Given the description of an element on the screen output the (x, y) to click on. 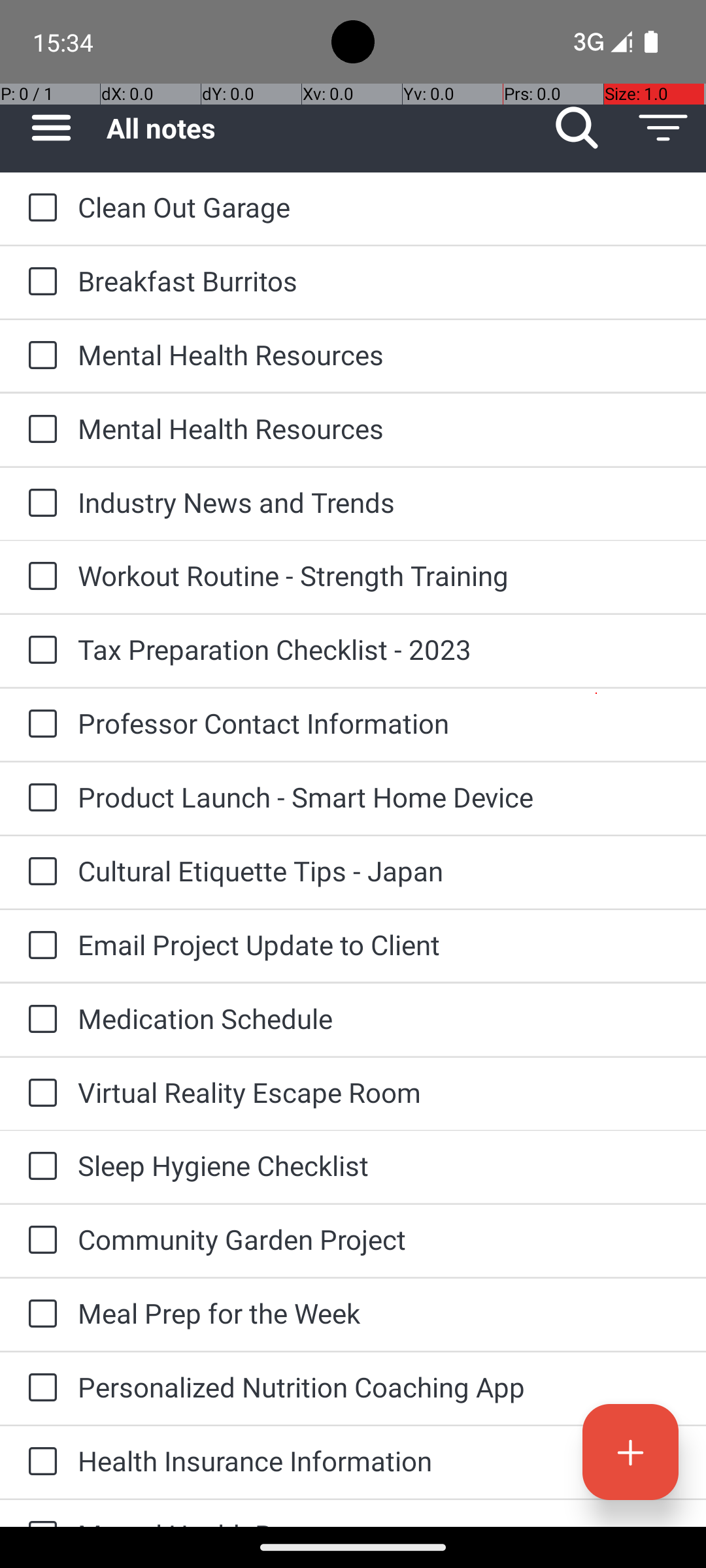
Sidebar Element type: android.widget.Button (44, 127)
All notes Element type: android.widget.TextView (320, 127)
Sort notes by Element type: android.widget.Button (663, 127)
Add new, collapsed Element type: android.widget.Button (630, 1452)
 Element type: android.widget.TextView (51, 127)
 Element type: android.widget.TextView (576, 127)
 Element type: android.widget.TextView (663, 127)
 Element type: android.widget.TextView (630, 1451)
to-do: Clean Out Garage Element type: android.widget.CheckBox (38, 208)
Clean Out Garage Element type: android.widget.TextView (378, 206)
to-do: Breakfast Burritos Element type: android.widget.CheckBox (38, 282)
Breakfast Burritos Element type: android.widget.TextView (378, 280)
to-do: Mental Health Resources Element type: android.widget.CheckBox (38, 356)
Mental Health Resources Element type: android.widget.TextView (378, 354)
to-do: Industry News and Trends Element type: android.widget.CheckBox (38, 503)
Industry News and Trends Element type: android.widget.TextView (378, 501)
to-do: Workout Routine - Strength Training Element type: android.widget.CheckBox (38, 576)
Workout Routine - Strength Training Element type: android.widget.TextView (378, 574)
to-do: Tax Preparation Checklist - 2023 Element type: android.widget.CheckBox (38, 650)
Tax Preparation Checklist - 2023 Element type: android.widget.TextView (378, 648)
to-do: Professor Contact Information Element type: android.widget.CheckBox (38, 724)
Professor Contact Information Element type: android.widget.TextView (378, 722)
to-do: Product Launch - Smart Home Device Element type: android.widget.CheckBox (38, 798)
Product Launch - Smart Home Device Element type: android.widget.TextView (378, 796)
to-do: Cultural Etiquette Tips - Japan Element type: android.widget.CheckBox (38, 872)
Cultural Etiquette Tips - Japan Element type: android.widget.TextView (378, 870)
to-do: Email Project Update to Client Element type: android.widget.CheckBox (38, 945)
Email Project Update to Client Element type: android.widget.TextView (378, 944)
to-do: Medication Schedule Element type: android.widget.CheckBox (38, 1019)
Medication Schedule Element type: android.widget.TextView (378, 1017)
to-do: Virtual Reality Escape Room Element type: android.widget.CheckBox (38, 1093)
Virtual Reality Escape Room Element type: android.widget.TextView (378, 1091)
to-do: Sleep Hygiene Checklist Element type: android.widget.CheckBox (38, 1166)
Sleep Hygiene Checklist Element type: android.widget.TextView (378, 1164)
to-do: Community Garden Project Element type: android.widget.CheckBox (38, 1240)
Community Garden Project Element type: android.widget.TextView (378, 1238)
to-do: Meal Prep for the Week Element type: android.widget.CheckBox (38, 1314)
Meal Prep for the Week Element type: android.widget.TextView (378, 1312)
to-do: Personalized Nutrition Coaching App Element type: android.widget.CheckBox (38, 1388)
Personalized Nutrition Coaching App Element type: android.widget.TextView (378, 1386)
to-do: Health Insurance Information Element type: android.widget.CheckBox (38, 1462)
Health Insurance Information Element type: android.widget.TextView (378, 1460)
 Element type: android.widget.TextView (42, 208)
